Given the description of an element on the screen output the (x, y) to click on. 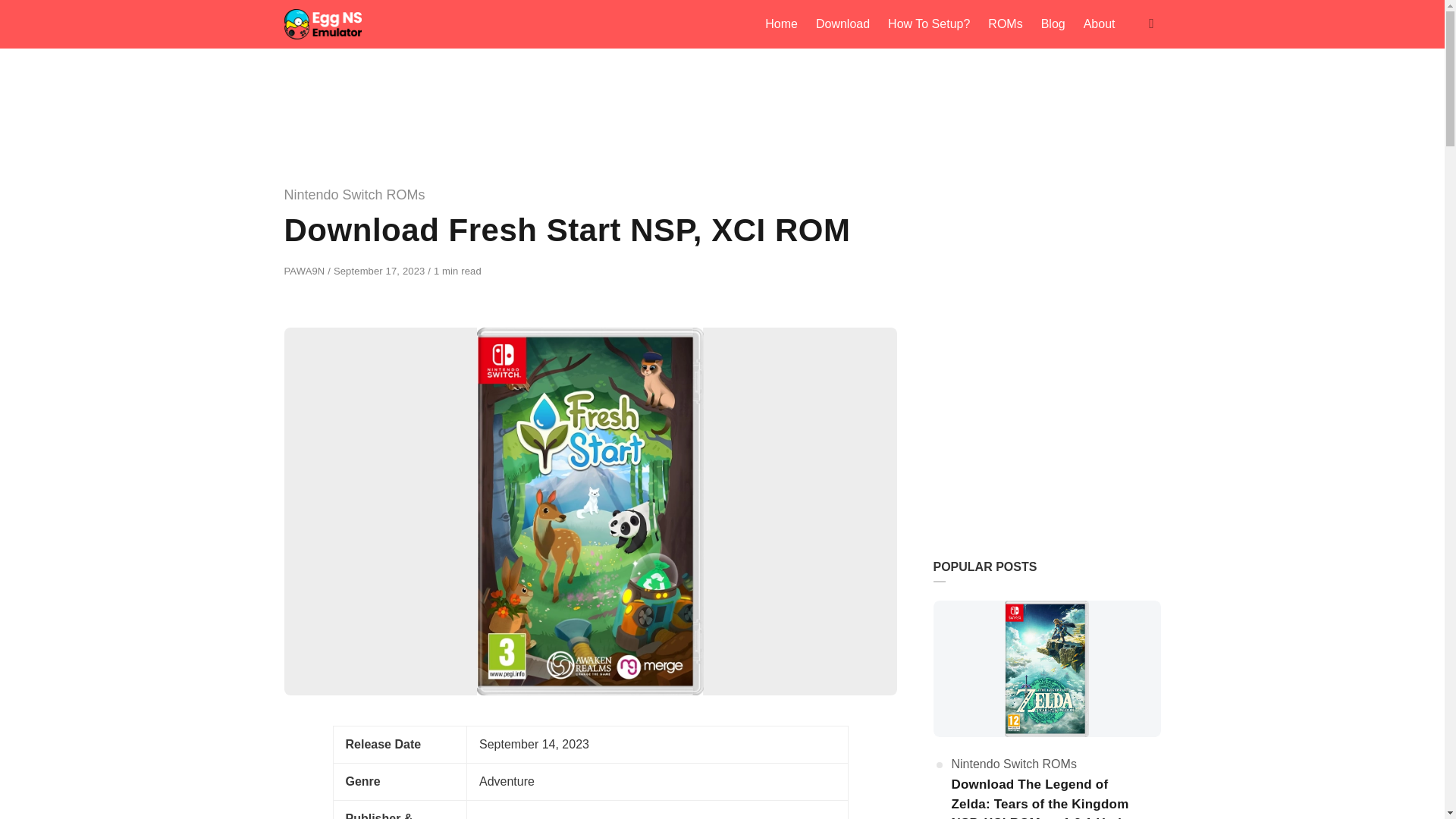
PAWA9N (305, 270)
September 17, 2023 (380, 270)
ROMs (1004, 24)
Advertisement (721, 88)
Nintendo Switch ROMs (1012, 763)
How To Setup? (928, 24)
About (1099, 24)
Nintendo Switch ROMs (354, 194)
Home (780, 24)
Download (842, 24)
Advertisement (1046, 421)
